Given the description of an element on the screen output the (x, y) to click on. 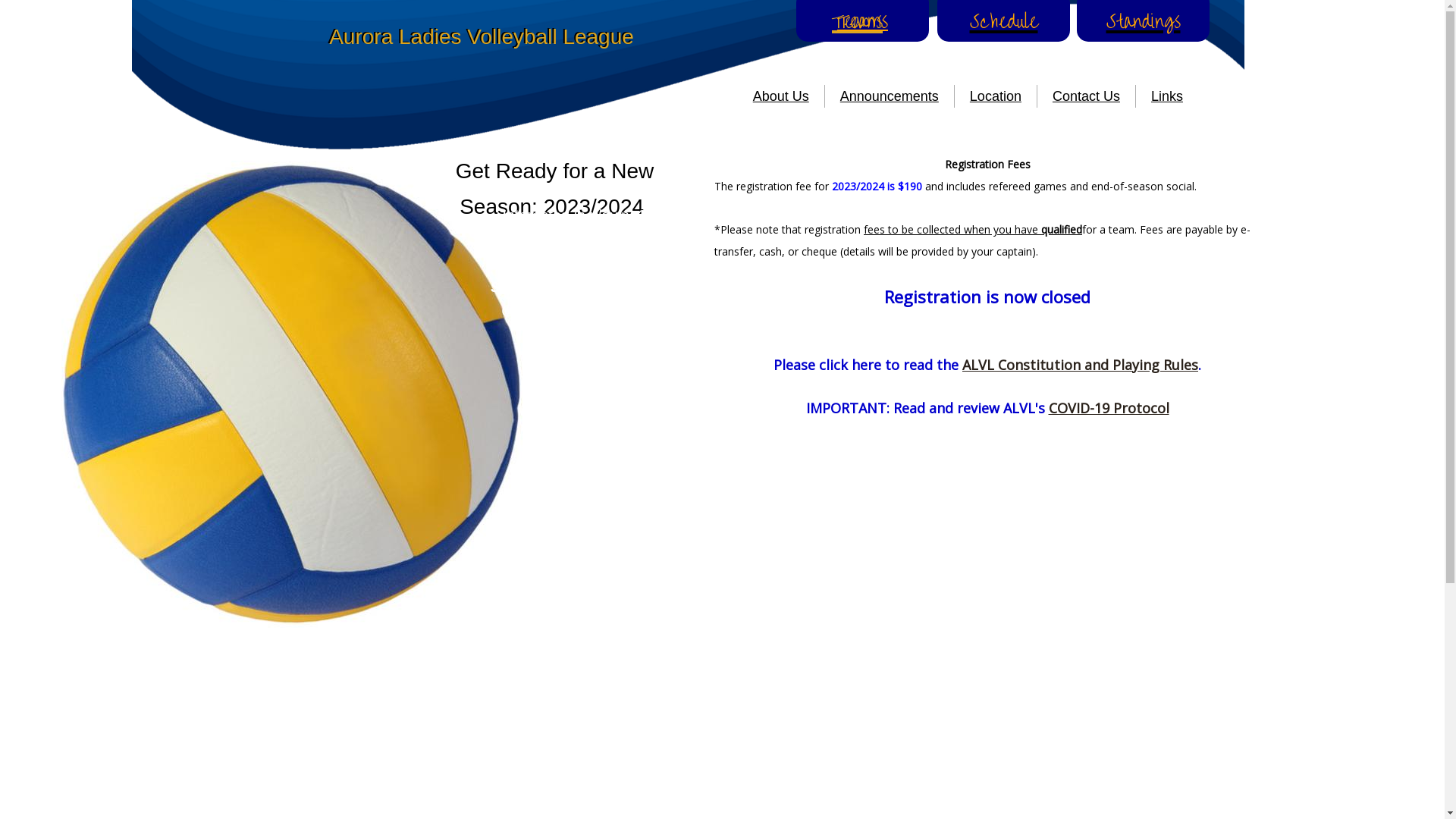
Register NOW Element type: text (529, 239)
About Us Element type: text (781, 95)
ALVL Constitution and Playing Rules Element type: text (1080, 364)
Contact Us Element type: text (1086, 95)
Announcements Element type: text (889, 95)
Location Element type: text (995, 95)
Teams Element type: text (862, 21)
COVID-19 Protocol Element type: text (1108, 407)
Links Element type: text (1167, 95)
